Given the description of an element on the screen output the (x, y) to click on. 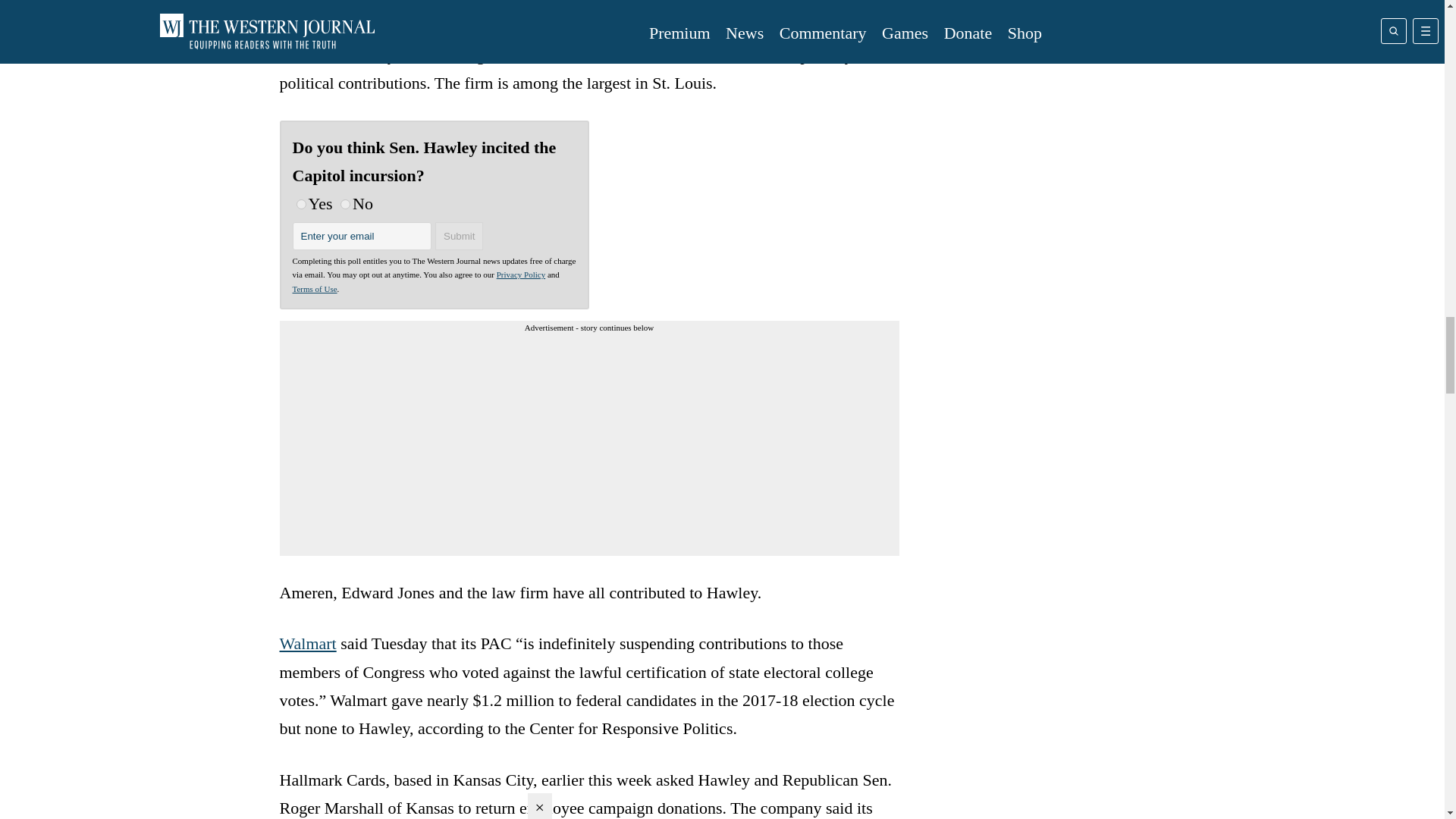
yes (300, 204)
no (345, 204)
Submit (459, 235)
